Given the description of an element on the screen output the (x, y) to click on. 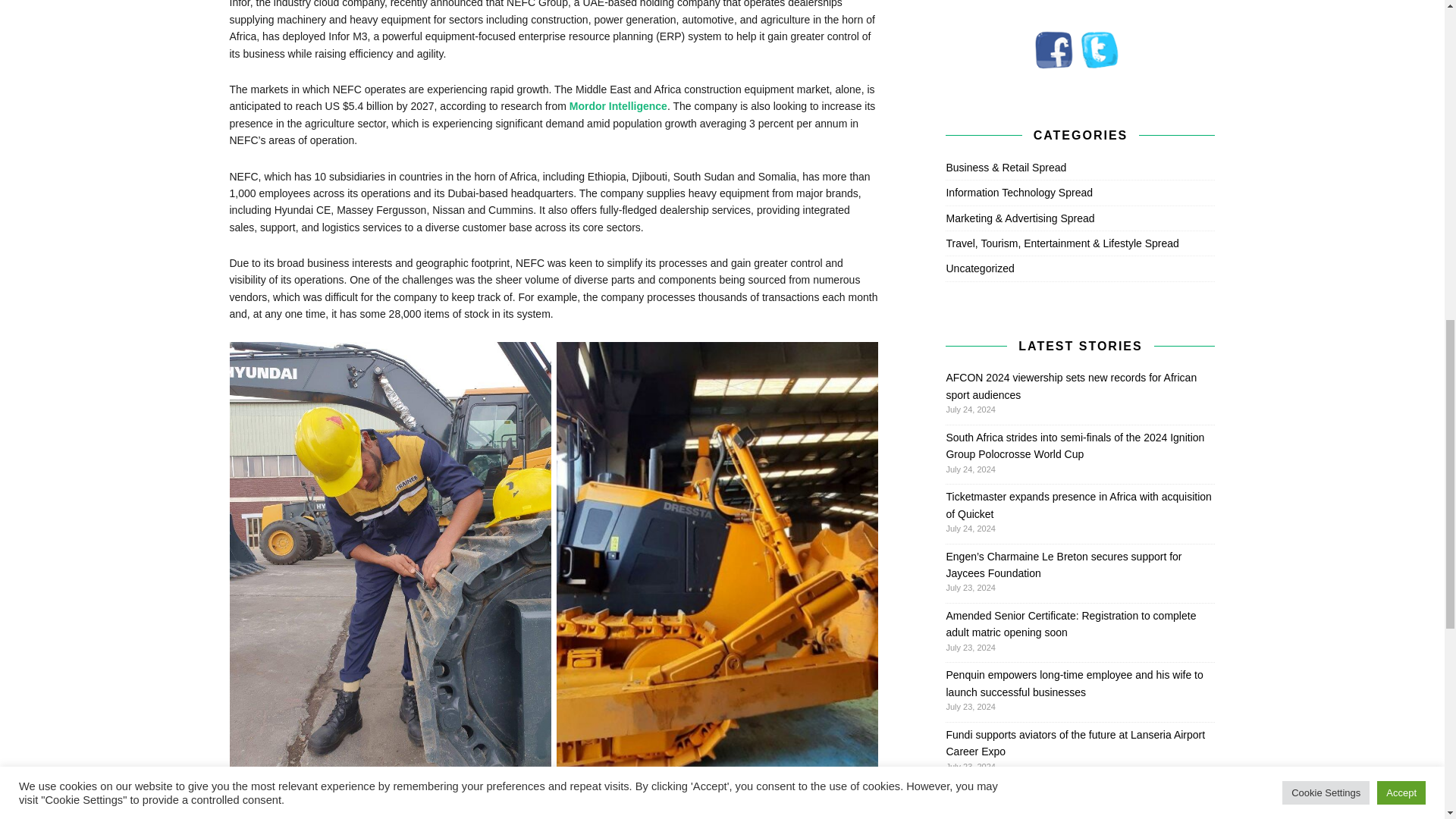
Mordor Intelligence (617, 105)
